Given the description of an element on the screen output the (x, y) to click on. 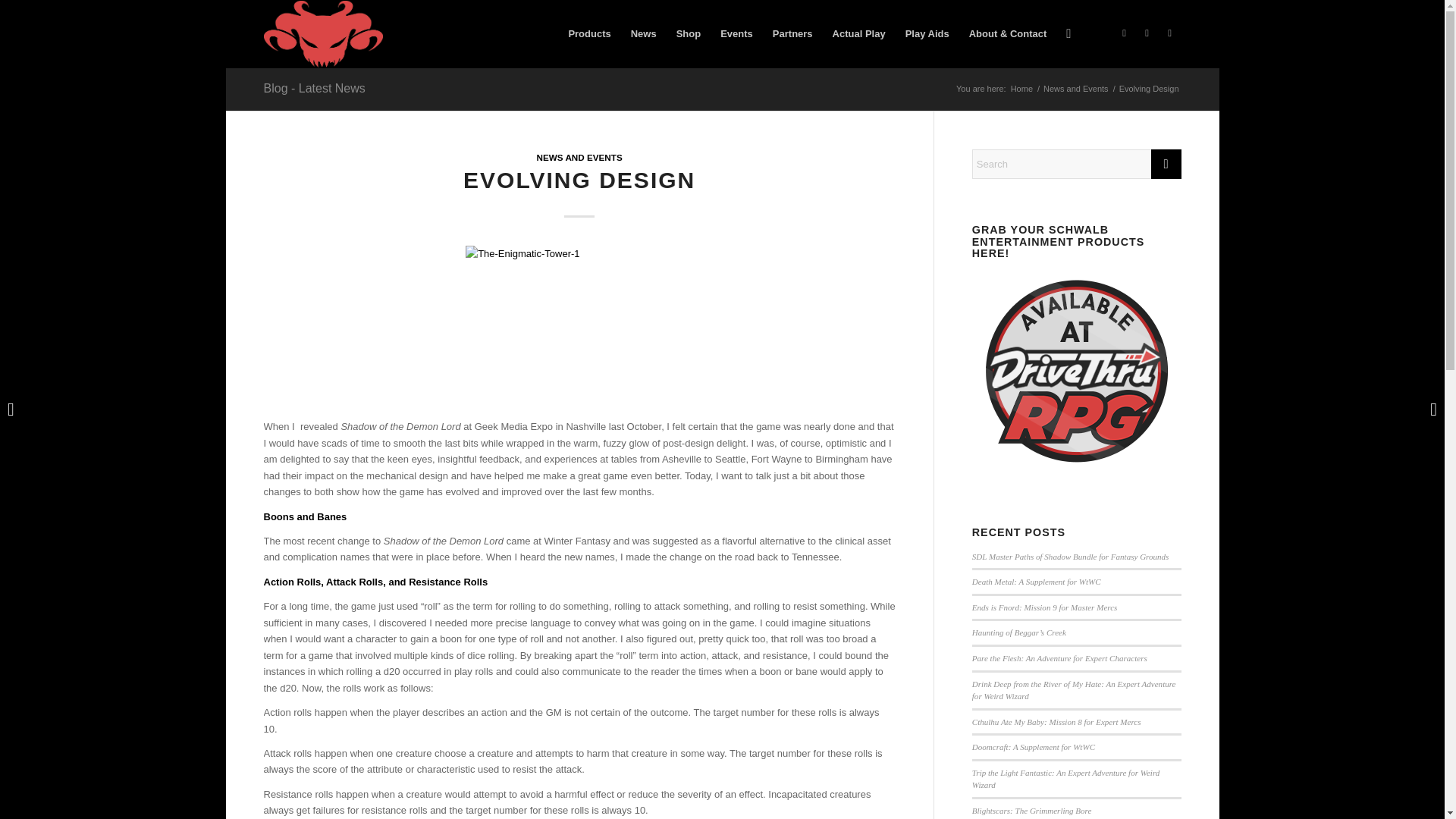
Play Aids (927, 33)
Schwalb Entertainment (322, 33)
Products (588, 33)
Partners (792, 33)
Actual Play (858, 33)
Permanent Link: Blog - Latest News (314, 88)
